Given the description of an element on the screen output the (x, y) to click on. 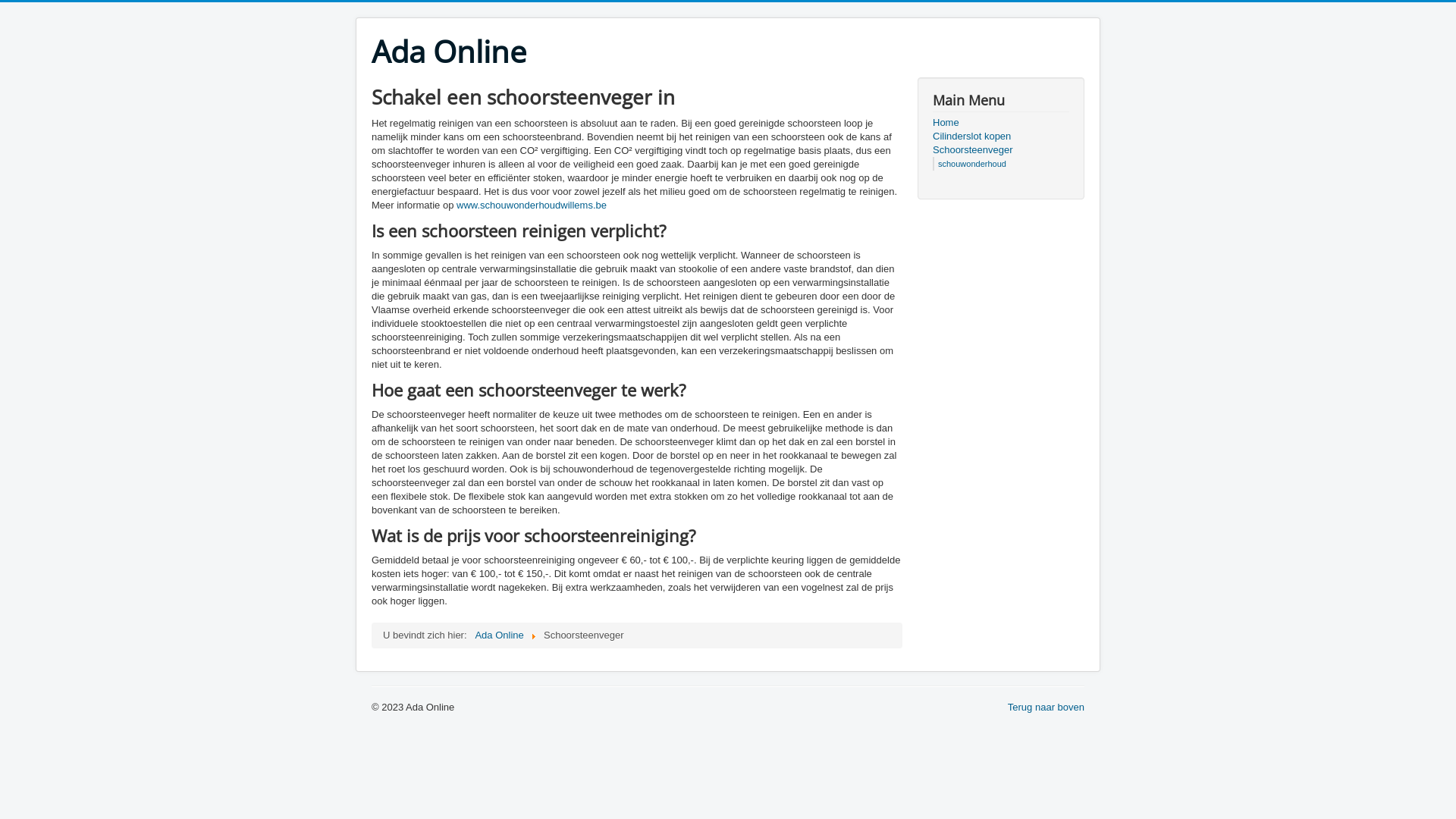
Terug naar boven Element type: text (1045, 706)
www.schouwonderhoudwillems.be Element type: text (531, 204)
Ada Online Element type: text (498, 634)
Schoorsteenveger Element type: text (1000, 149)
Ada Online Element type: text (448, 51)
Home Element type: text (1000, 122)
Cilinderslot kopen Element type: text (1000, 136)
schouwonderhoud Element type: text (972, 163)
